Given the description of an element on the screen output the (x, y) to click on. 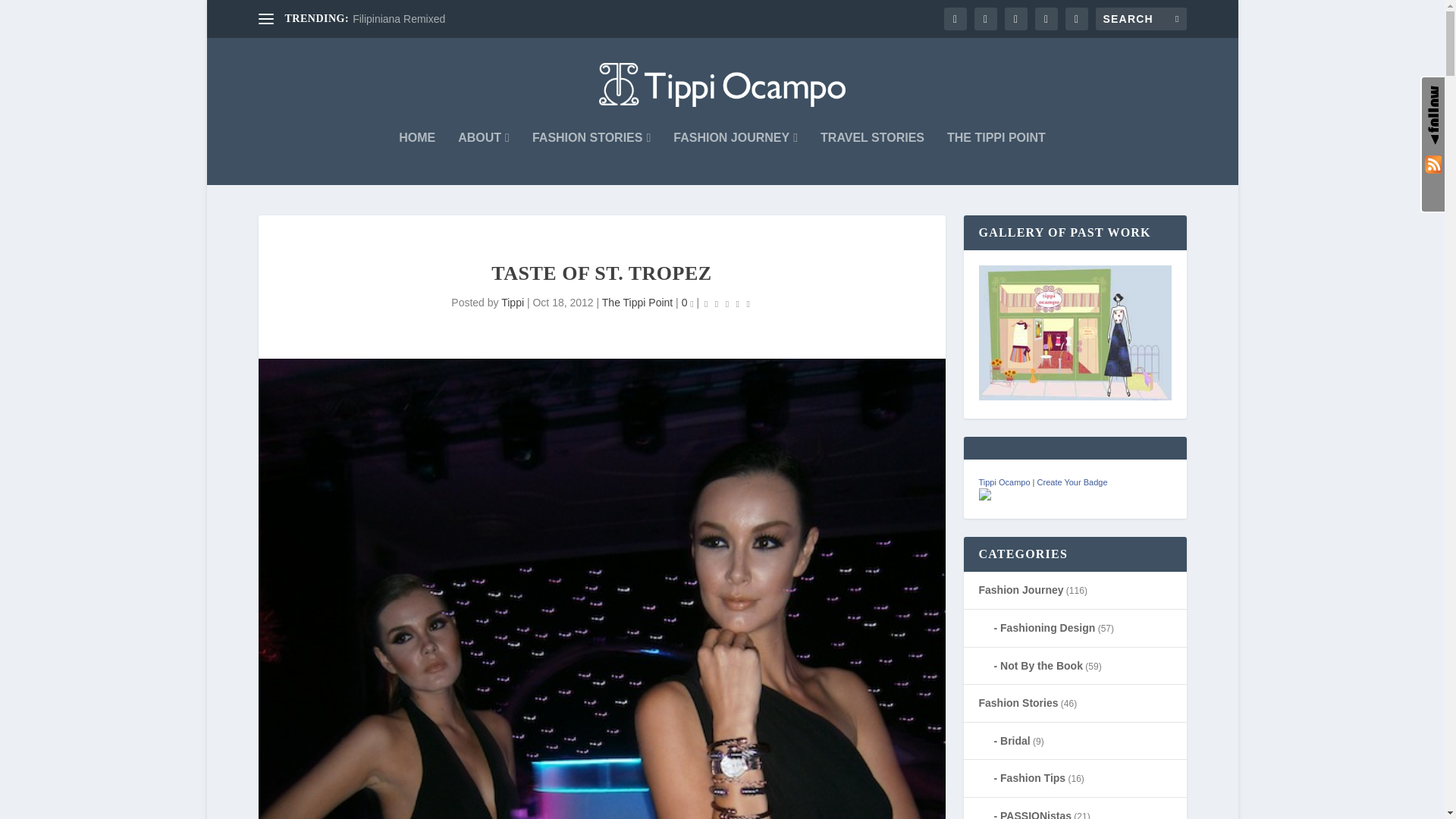
FASHION JOURNEY (734, 158)
FASHION STORIES (591, 158)
Filipiniana Remixed (398, 19)
Posts by Tippi (512, 302)
Rating: 0.00 (726, 303)
ABOUT (483, 158)
TRAVEL STORIES (872, 158)
